Given the description of an element on the screen output the (x, y) to click on. 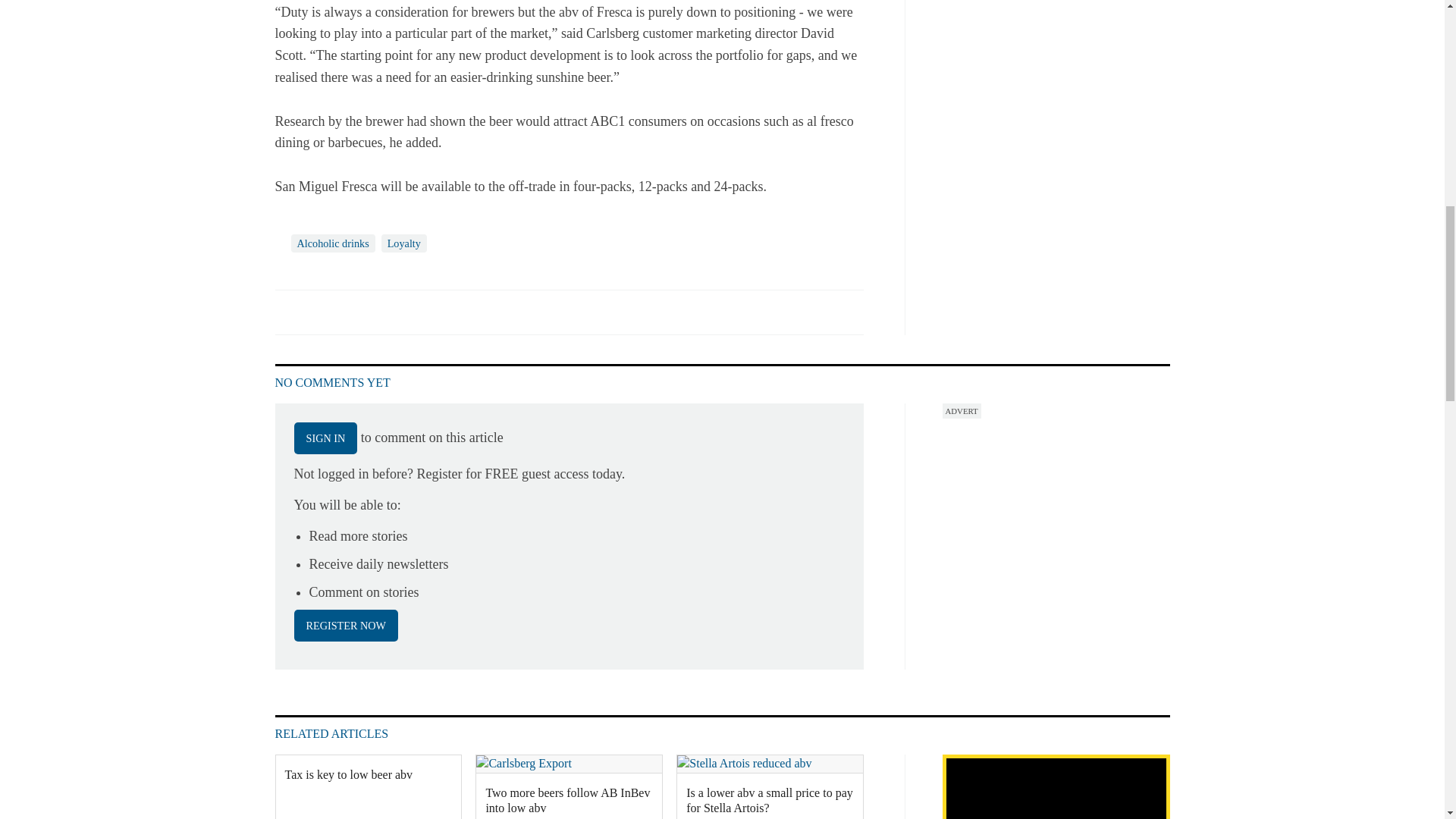
Share this on Facebook (288, 311)
Share this on Linked in (352, 311)
Email this article (386, 311)
Share this on Twitter (320, 311)
No comments (840, 320)
